Given the description of an element on the screen output the (x, y) to click on. 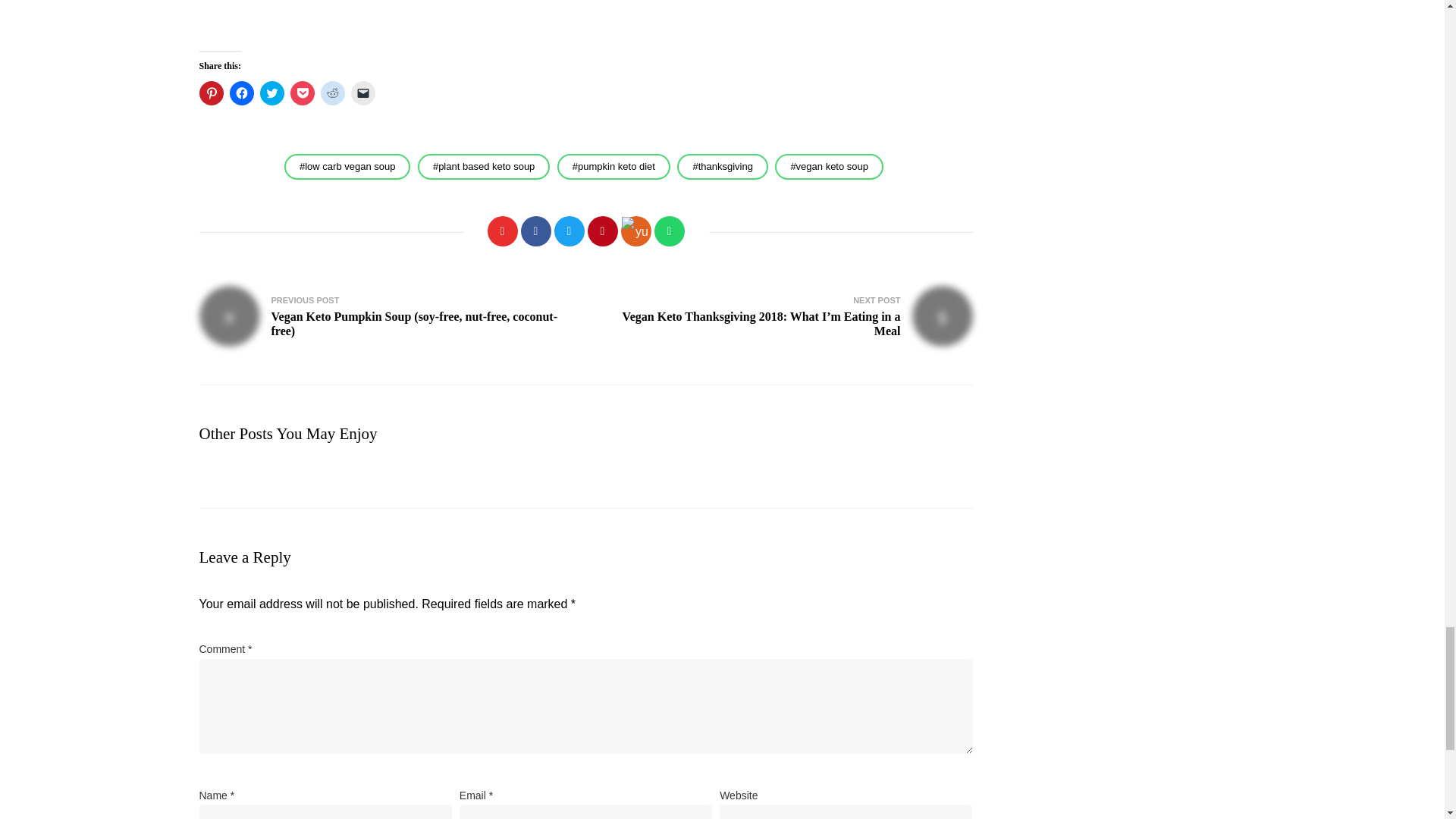
Click to share on Reddit (331, 93)
Click to share on Twitter (271, 93)
Click to share on Facebook (240, 93)
Pinterest (601, 231)
Click to share on Pocket (301, 93)
Click to email a link to a friend (362, 93)
Like (501, 231)
WhatsApp (668, 231)
Yummly (635, 231)
Click to share on Pinterest (210, 93)
